Given the description of an element on the screen output the (x, y) to click on. 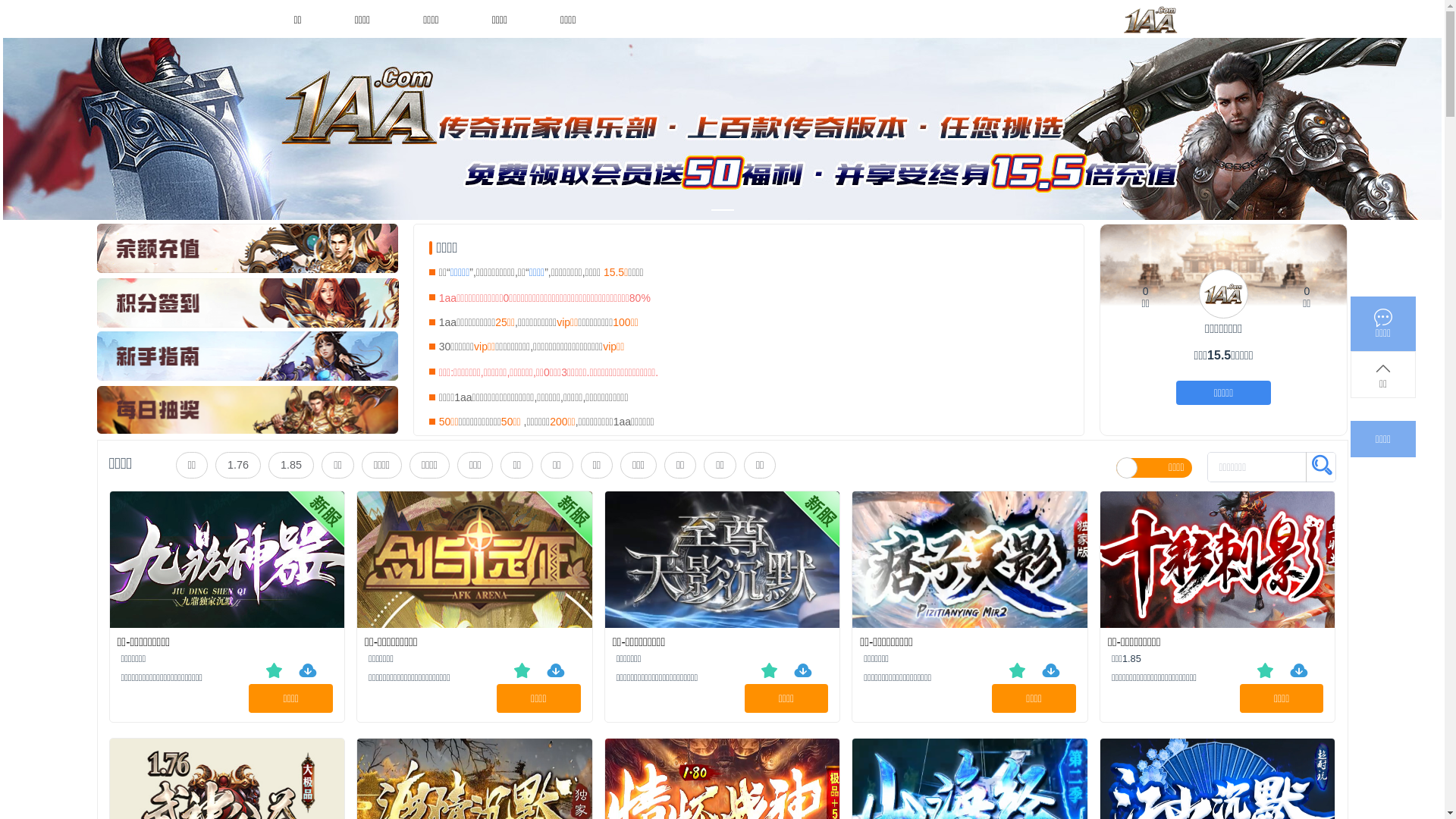
1.76 Element type: text (237, 464)
1.85 Element type: text (290, 464)
